Given the description of an element on the screen output the (x, y) to click on. 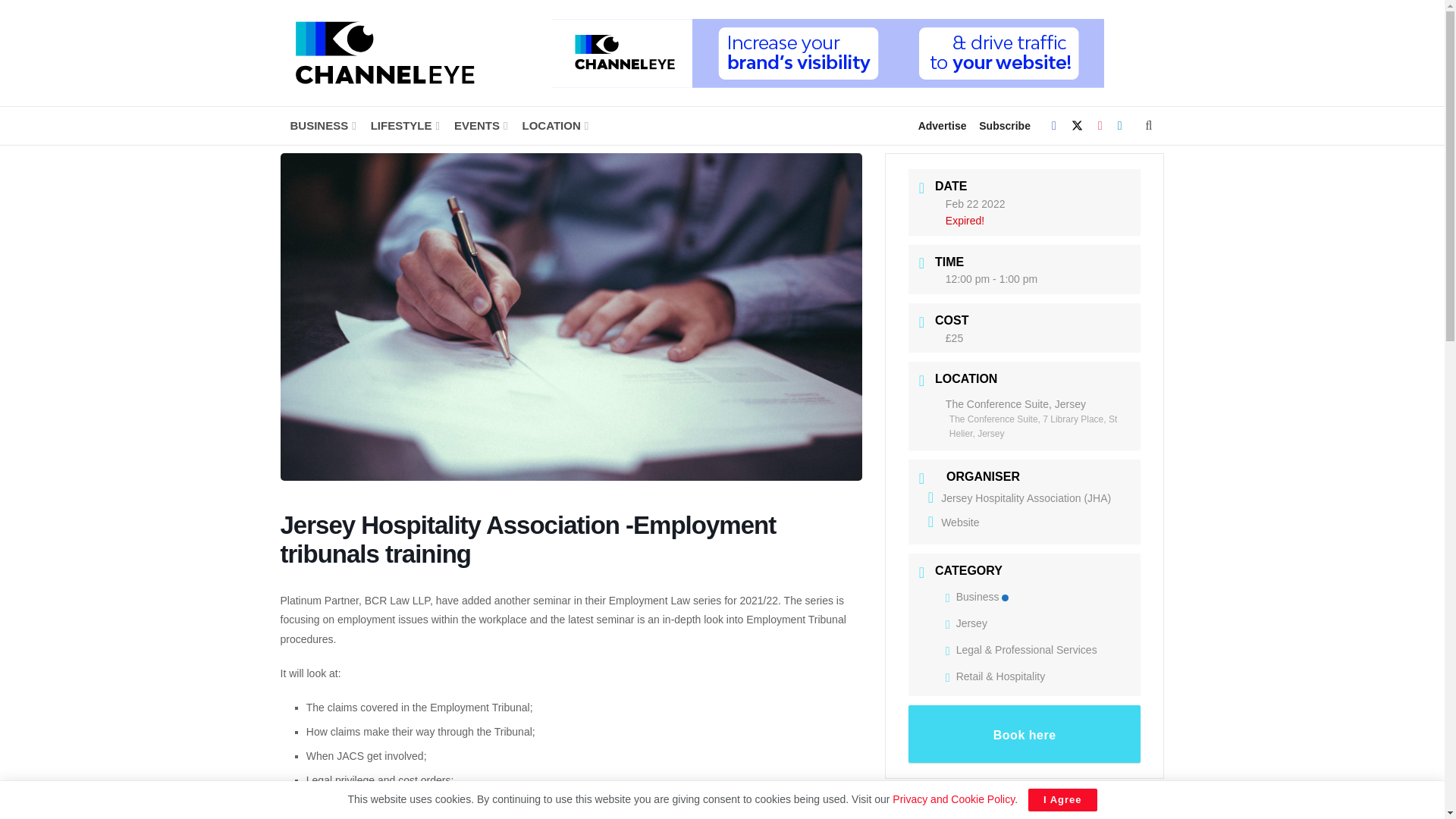
LIFESTYLE (404, 125)
LOCATION (553, 125)
EVENTS (479, 125)
BUSINESS (321, 125)
